Given the description of an element on the screen output the (x, y) to click on. 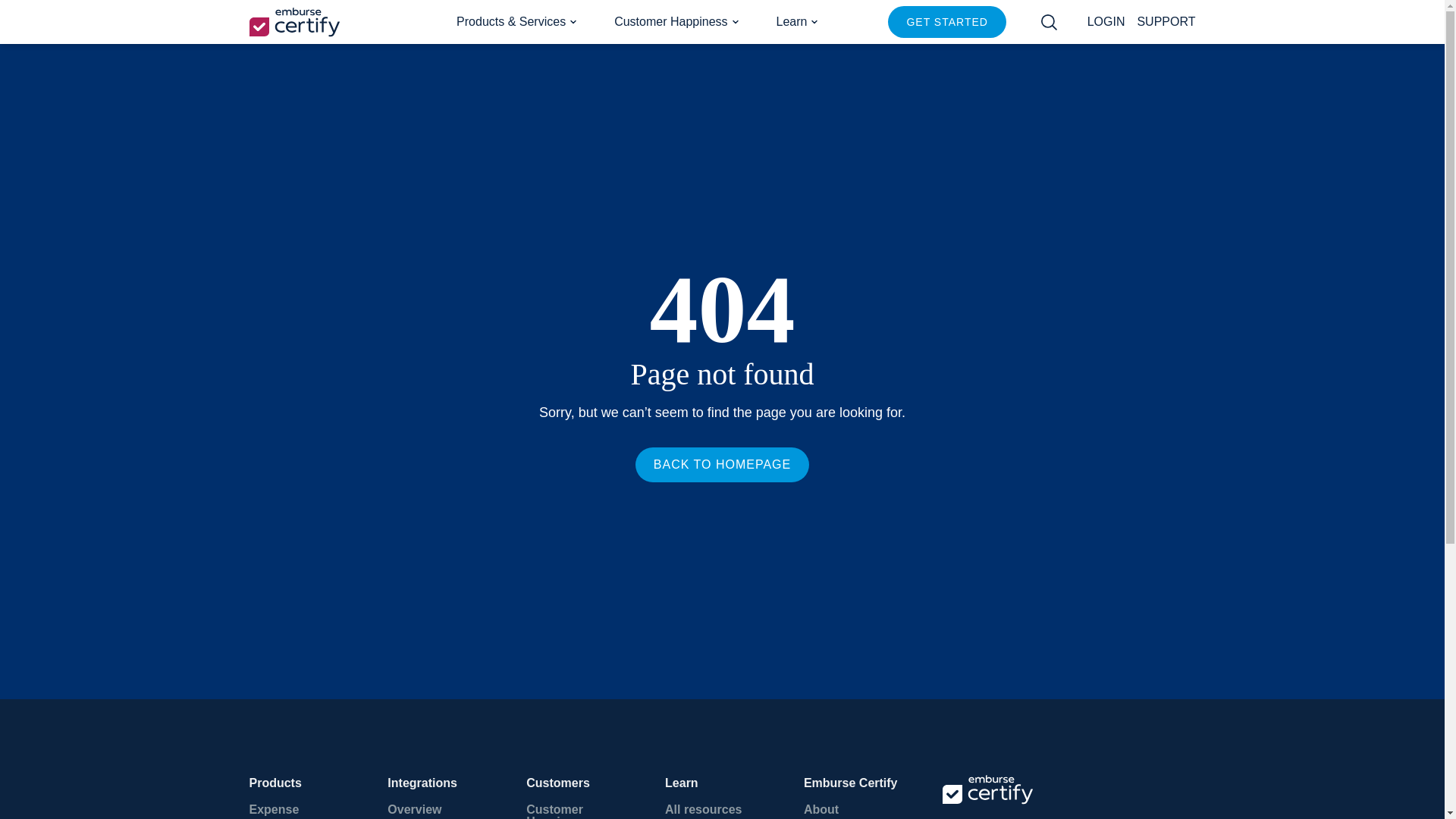
SUPPORT (1166, 21)
Customer Happiness (676, 21)
GET STARTED (947, 21)
Learn (797, 21)
BACK TO HOMEPAGE (721, 464)
Expense (305, 809)
LOGIN (1106, 21)
